Given the description of an element on the screen output the (x, y) to click on. 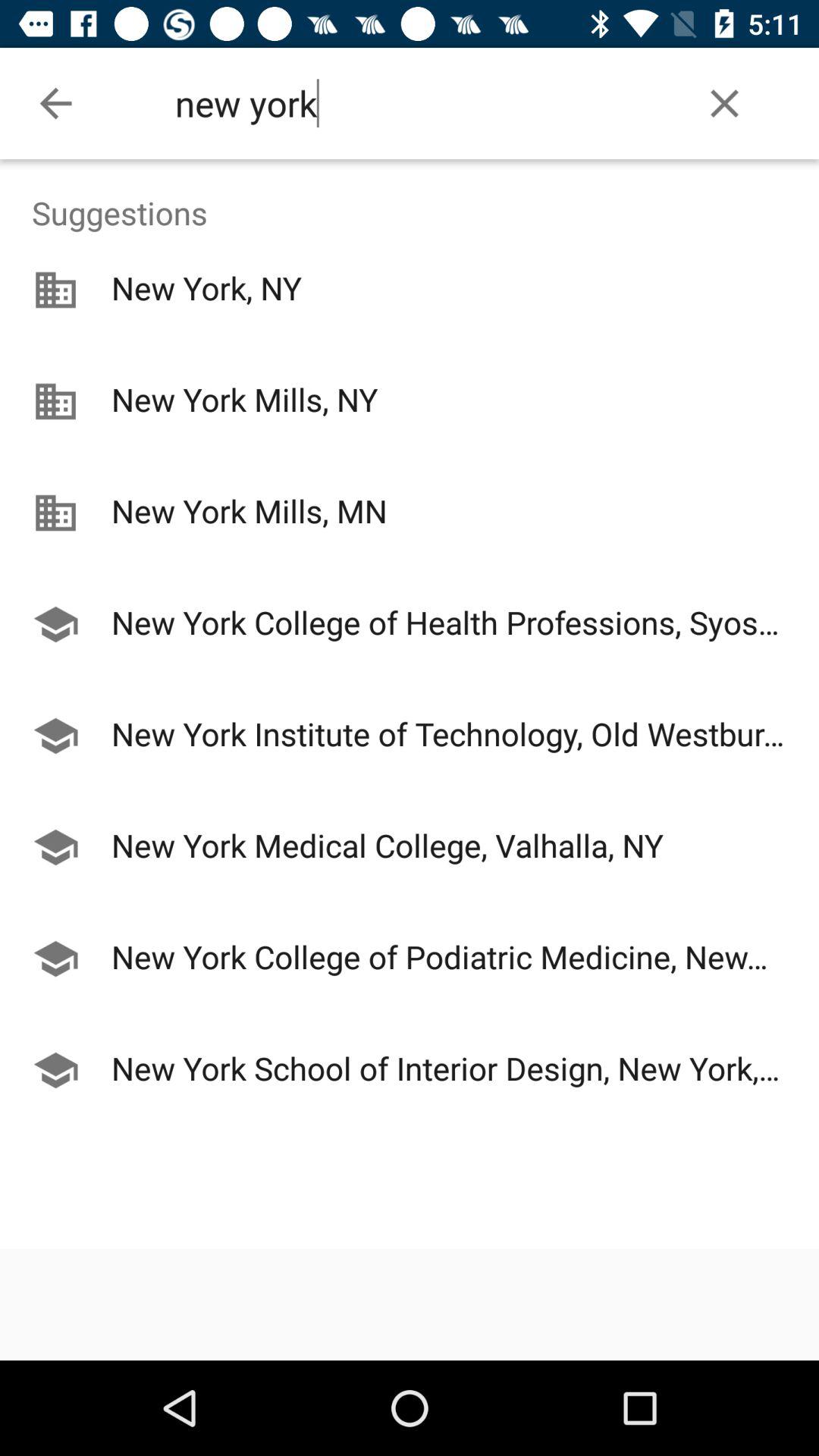
choose the icon next to new york item (55, 103)
